Given the description of an element on the screen output the (x, y) to click on. 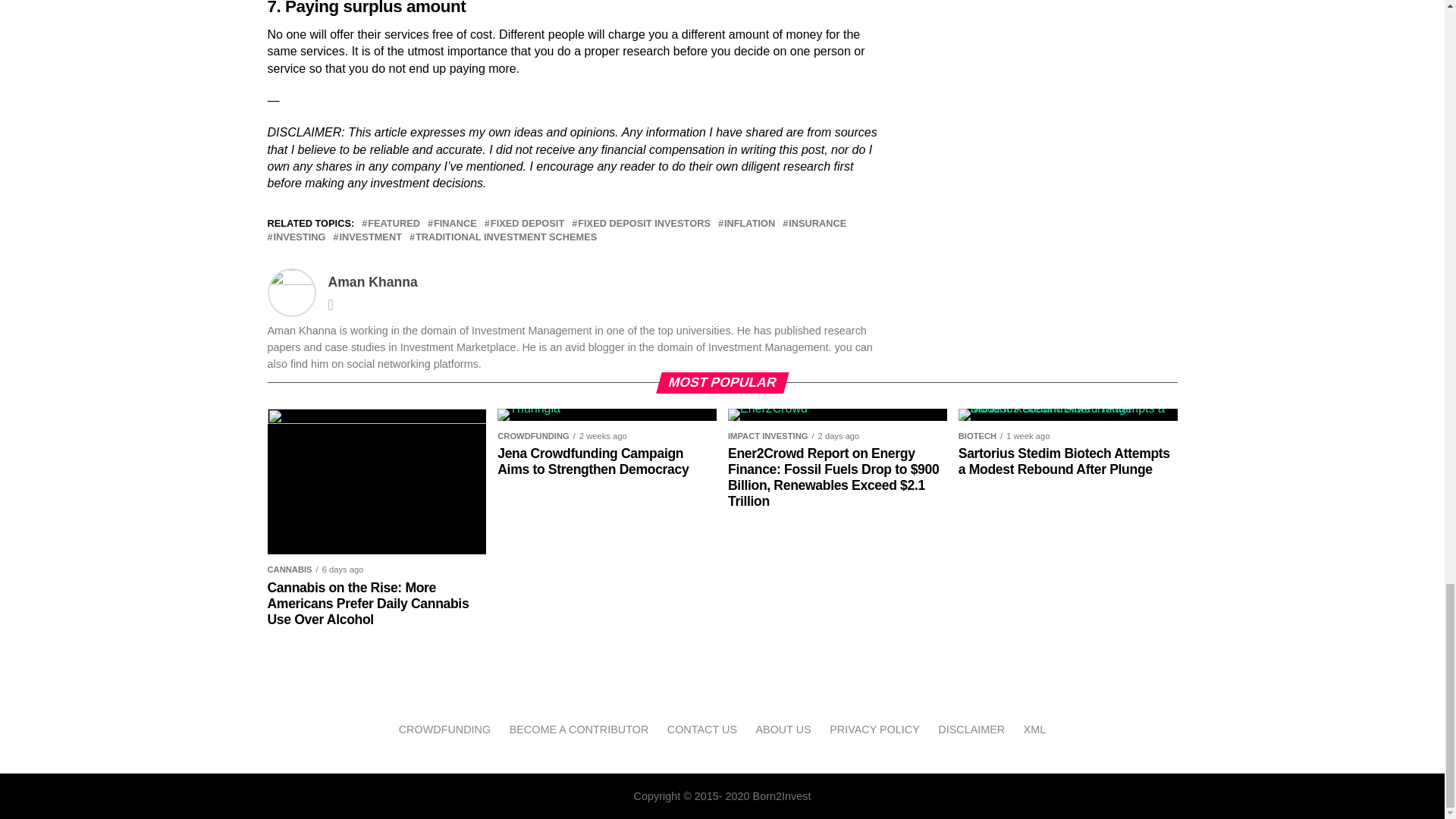
FINANCE (455, 224)
FEATURED (394, 224)
FIXED DEPOSIT (527, 224)
INFLATION (748, 224)
FIXED DEPOSIT INVESTORS (644, 224)
Posts by Aman Khanna (371, 281)
